Given the description of an element on the screen output the (x, y) to click on. 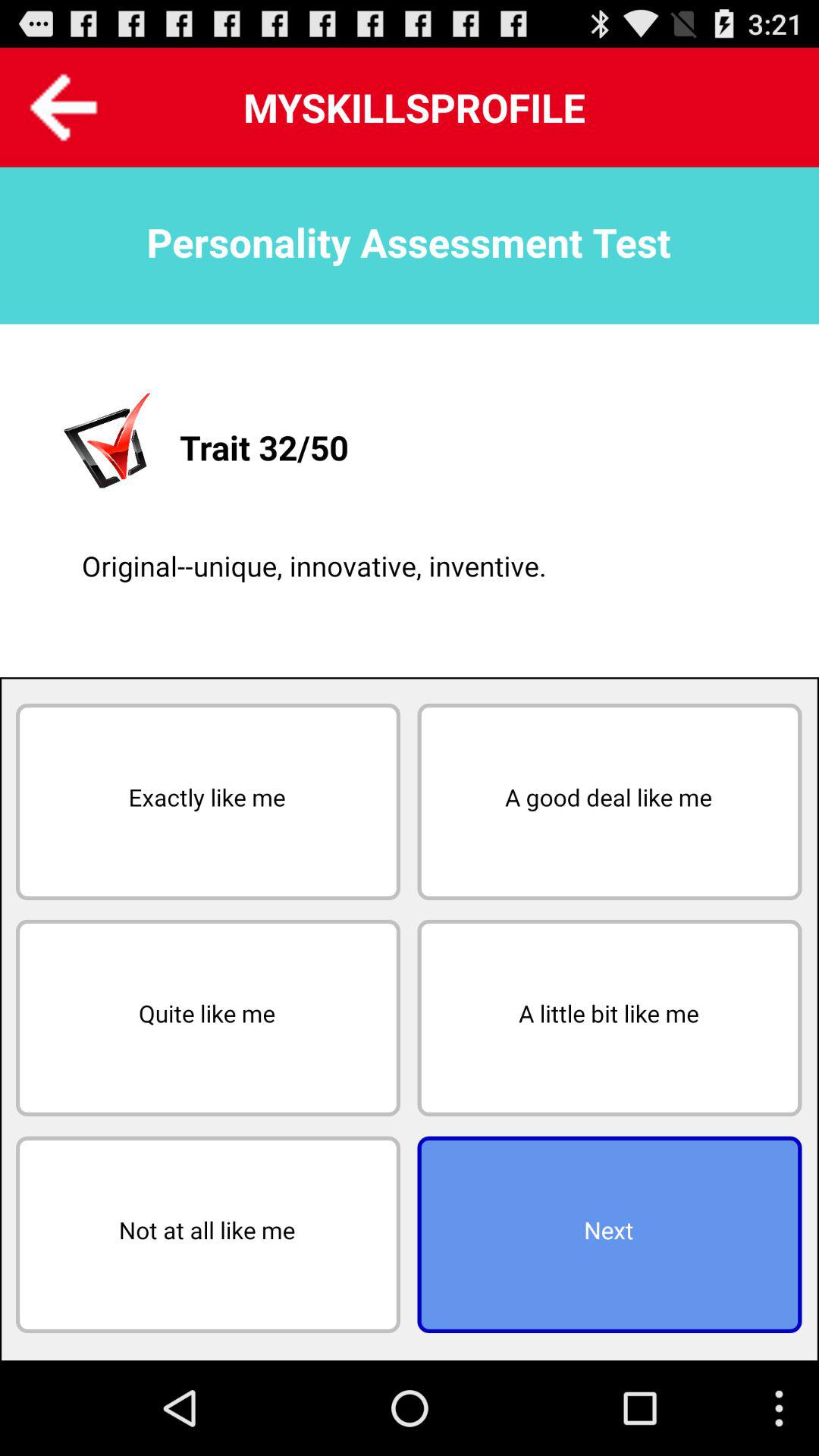
turn off the item next to next button (207, 1234)
